Given the description of an element on the screen output the (x, y) to click on. 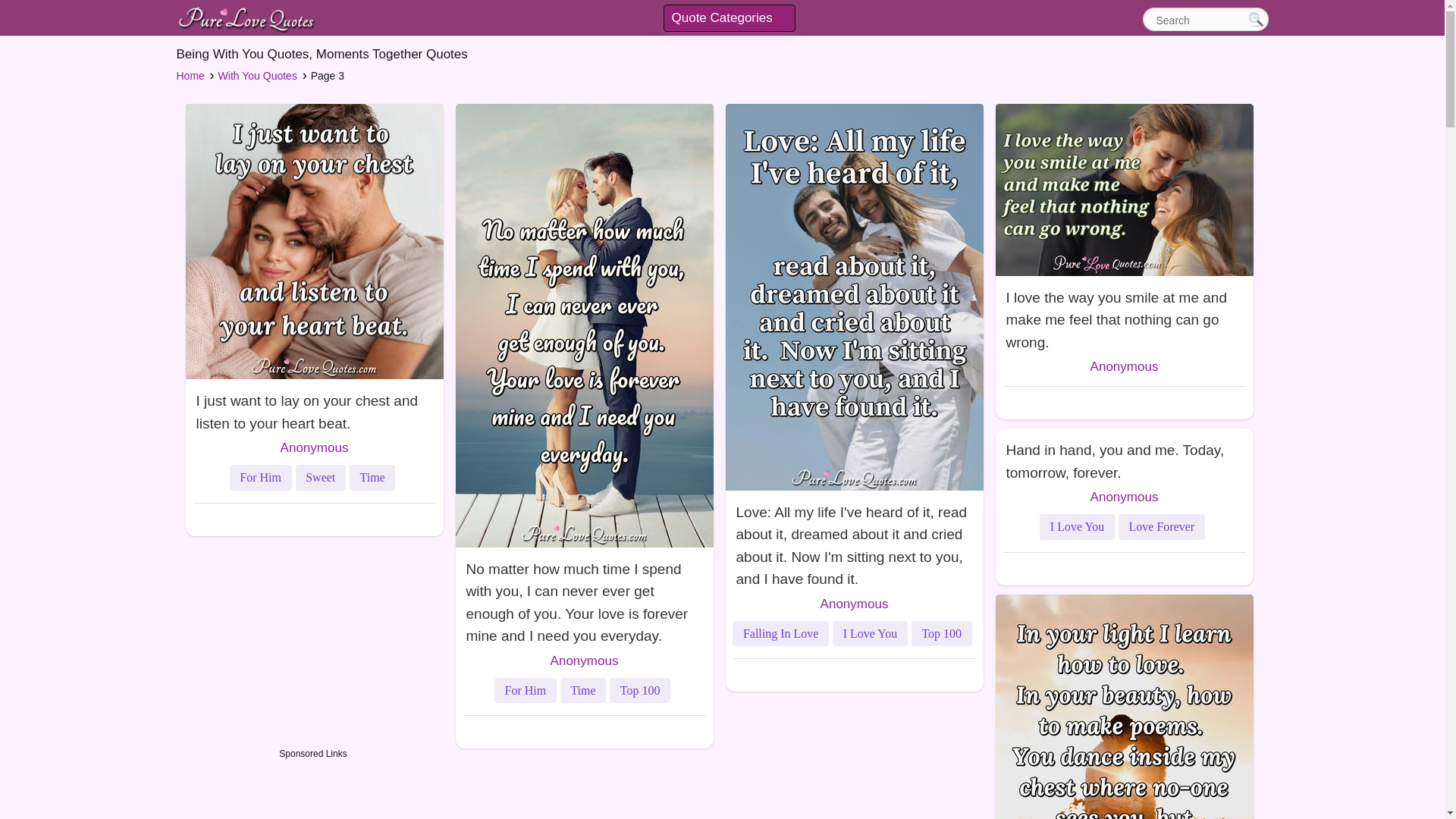
Advertisement (313, 790)
see quote (853, 542)
Quote Categories (728, 17)
see quote (1123, 457)
see quote (313, 408)
Start typing and hit ENTER (1197, 19)
PureLoveQuotes.com (245, 18)
Search (1197, 19)
Search (1256, 18)
see quote (1123, 316)
see quote (583, 599)
